Given the description of an element on the screen output the (x, y) to click on. 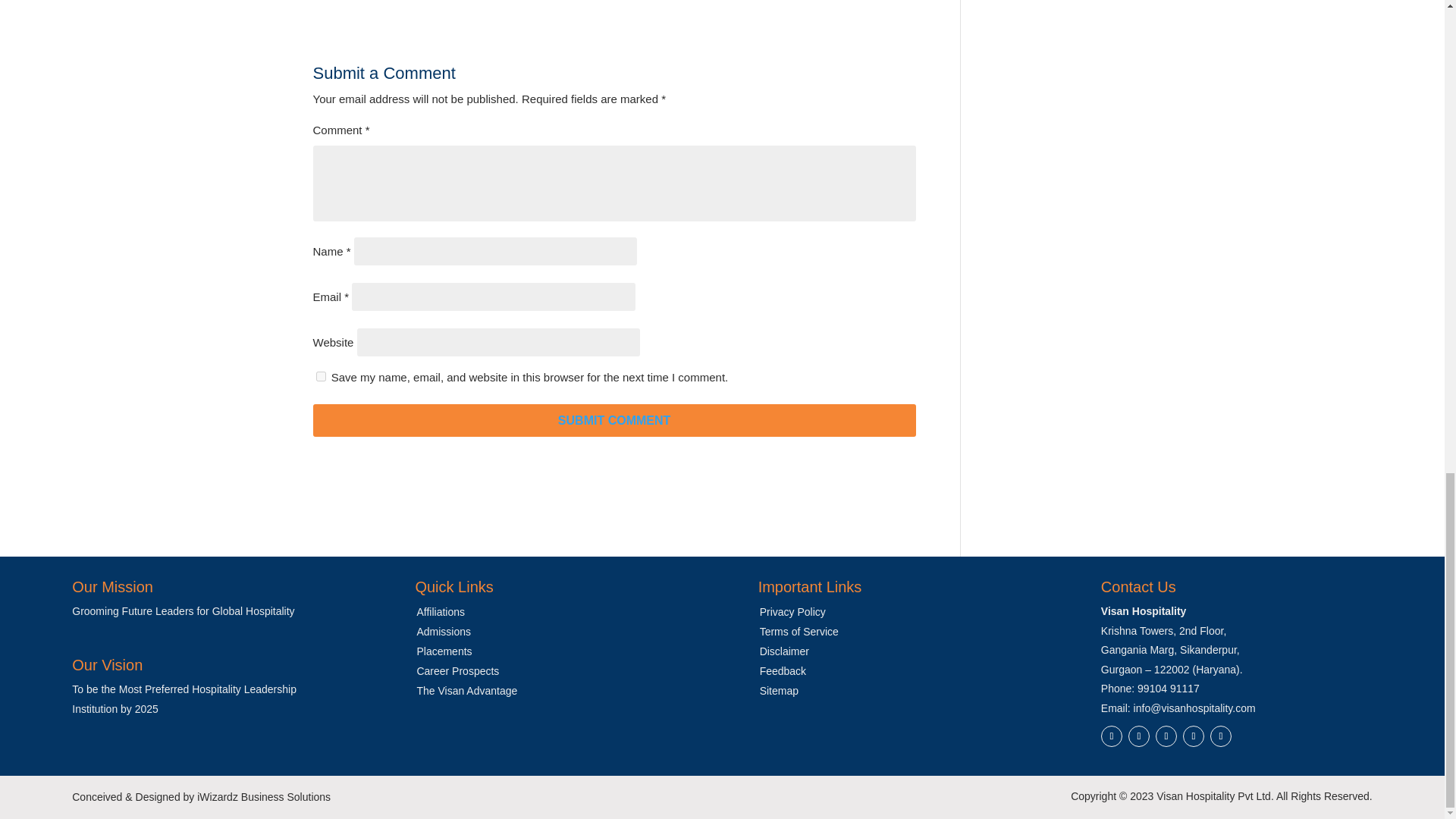
Submit Comment (614, 420)
Follow on Facebook (1111, 735)
Follow on Youtube (1220, 735)
Follow on LinkedIn (1193, 735)
Follow on Twitter (1166, 735)
Follow on Instagram (1139, 735)
yes (319, 376)
